Given the description of an element on the screen output the (x, y) to click on. 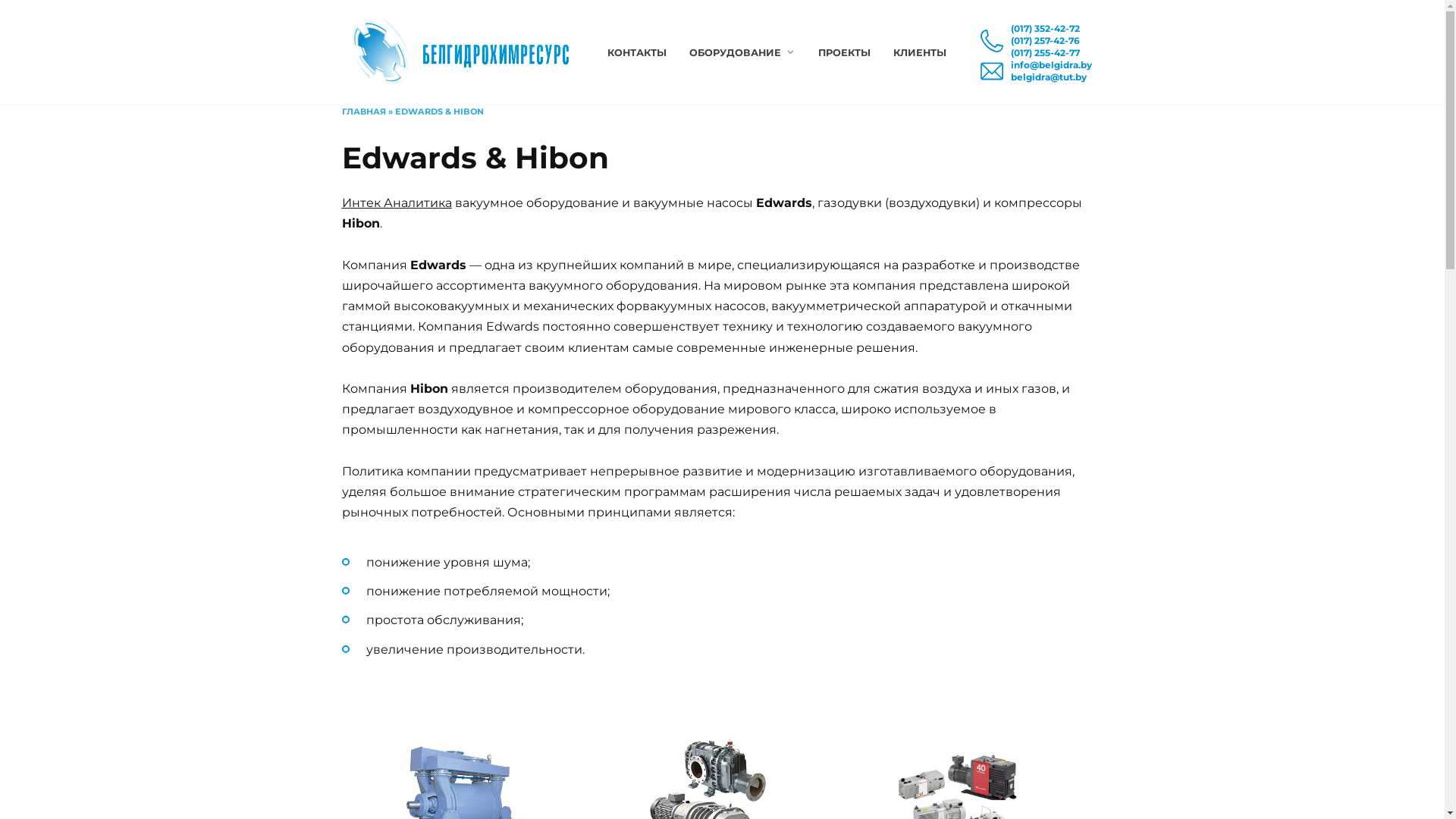
info@belgidra.by Element type: text (1050, 65)
(017) 352-42-72 Element type: text (1044, 28)
belgidra@tut.by Element type: text (1050, 77)
(017) 255-42-77 Element type: text (1044, 53)
(017) 257-42-76 Element type: text (1044, 40)
